Given the description of an element on the screen output the (x, y) to click on. 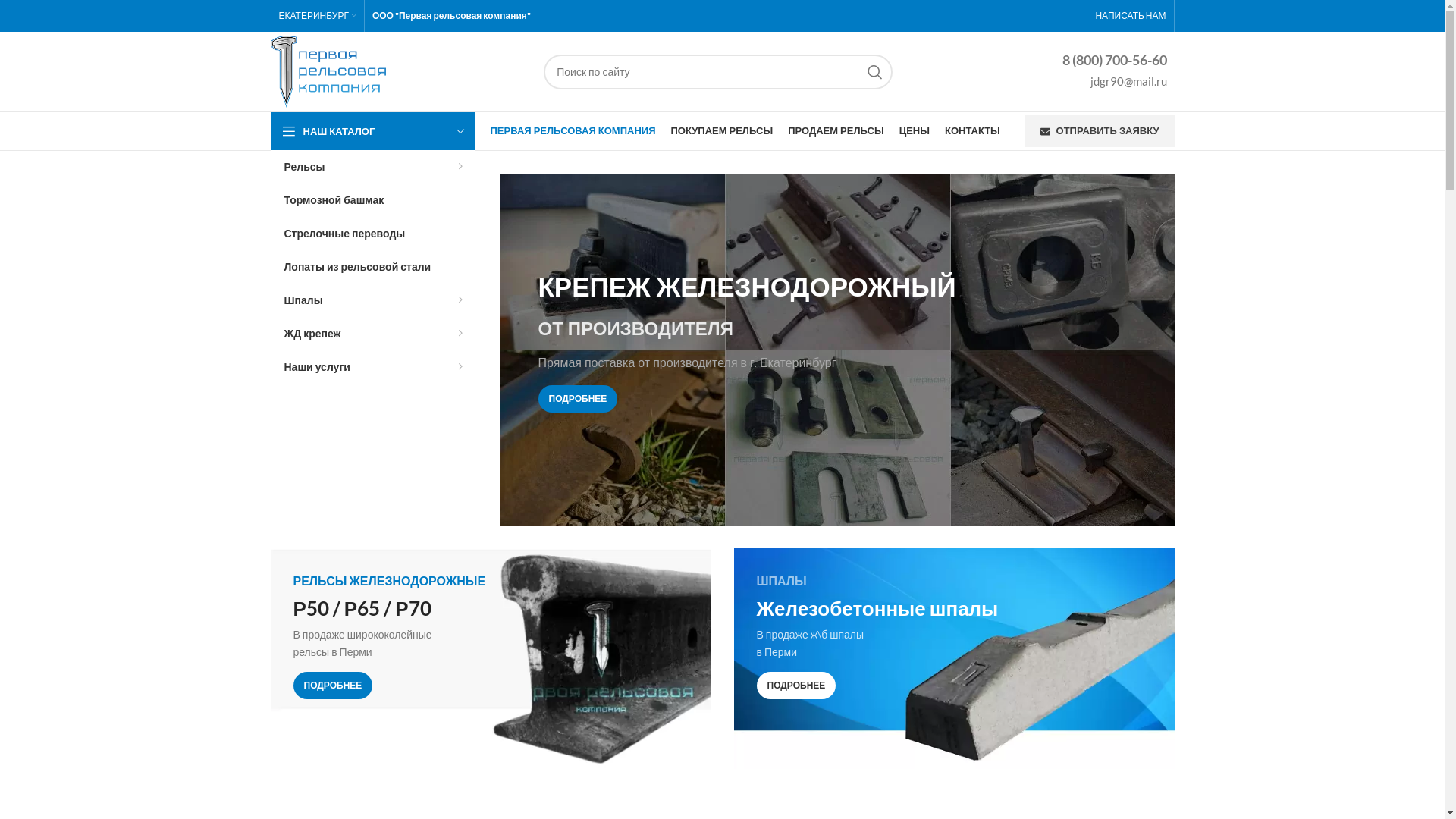
jdgr90@mail.ru Element type: text (1113, 83)
8 (800) 700-56-60 Element type: text (1113, 64)
